Given the description of an element on the screen output the (x, y) to click on. 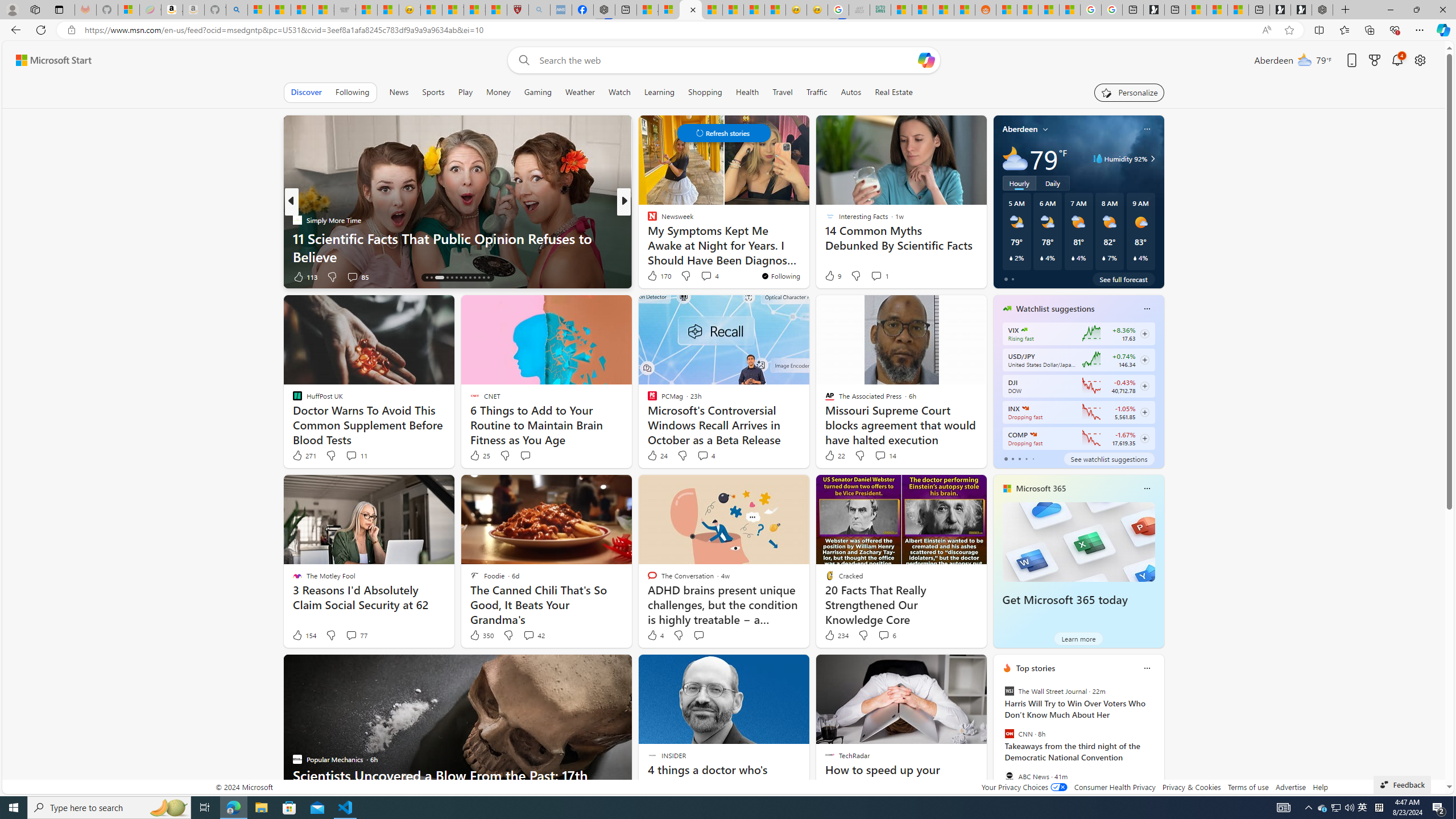
My location (1045, 128)
Hide this story (841, 668)
